Given the description of an element on the screen output the (x, y) to click on. 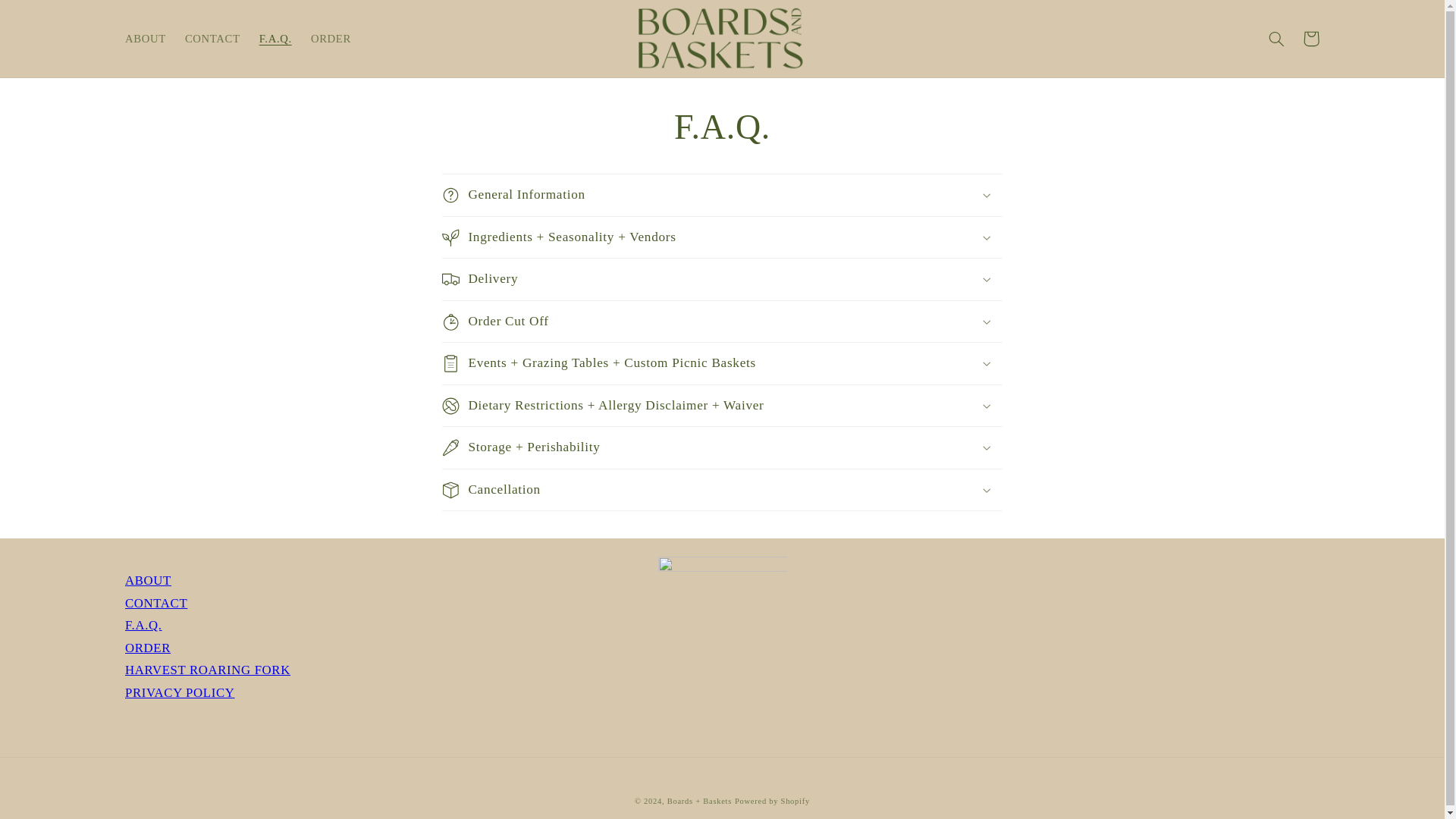
F.A.Q. (143, 625)
Contact (156, 603)
All products (147, 647)
ORDER (147, 647)
Privacy Policy (179, 692)
PRIVACY POLICY (179, 692)
ABOUT (144, 38)
ABOUT (148, 580)
F.A.Q. (143, 625)
ORDER (330, 38)
